Given the description of an element on the screen output the (x, y) to click on. 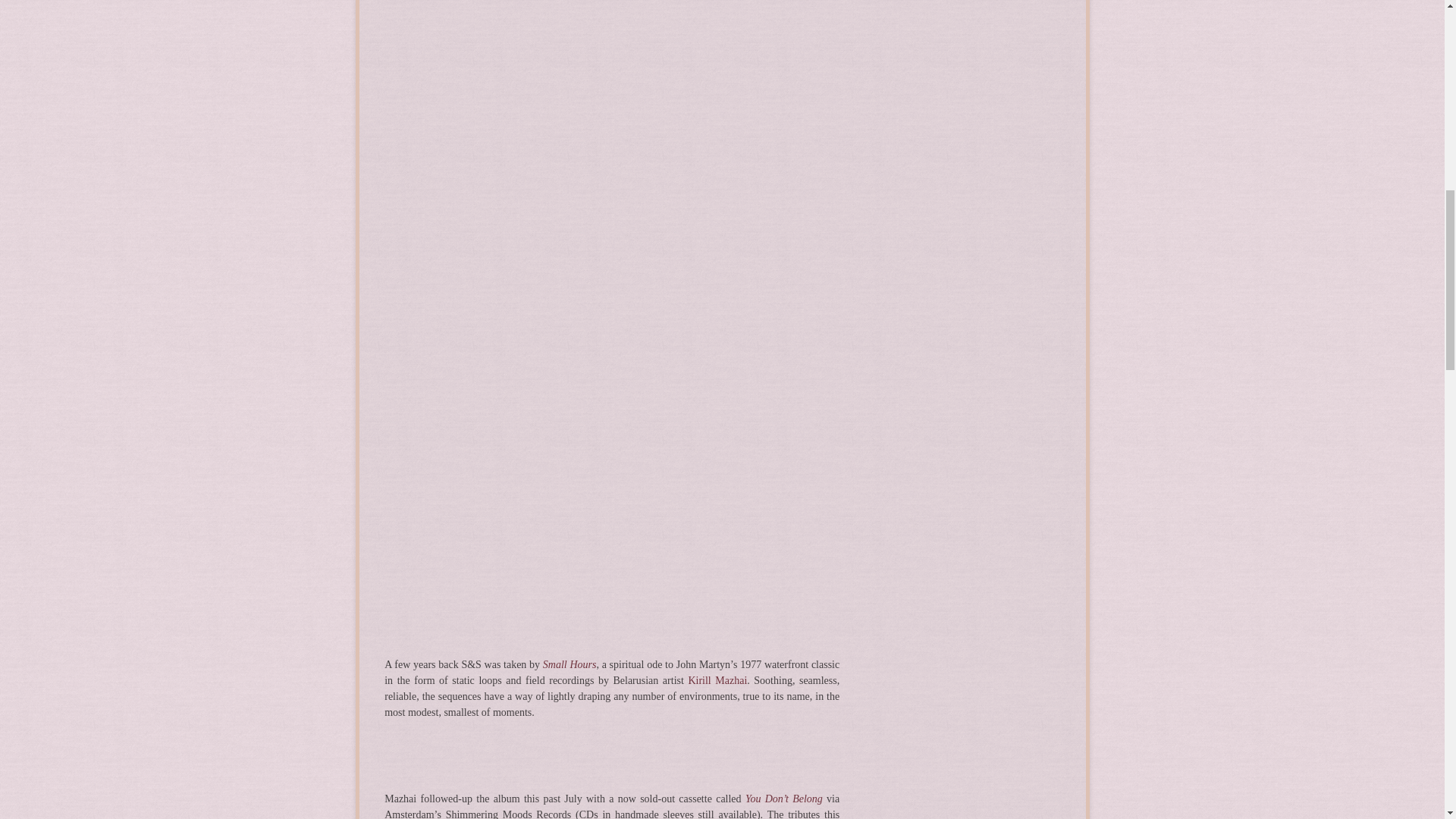
Kirill Mazhai (716, 680)
Small Hours (569, 664)
